Given the description of an element on the screen output the (x, y) to click on. 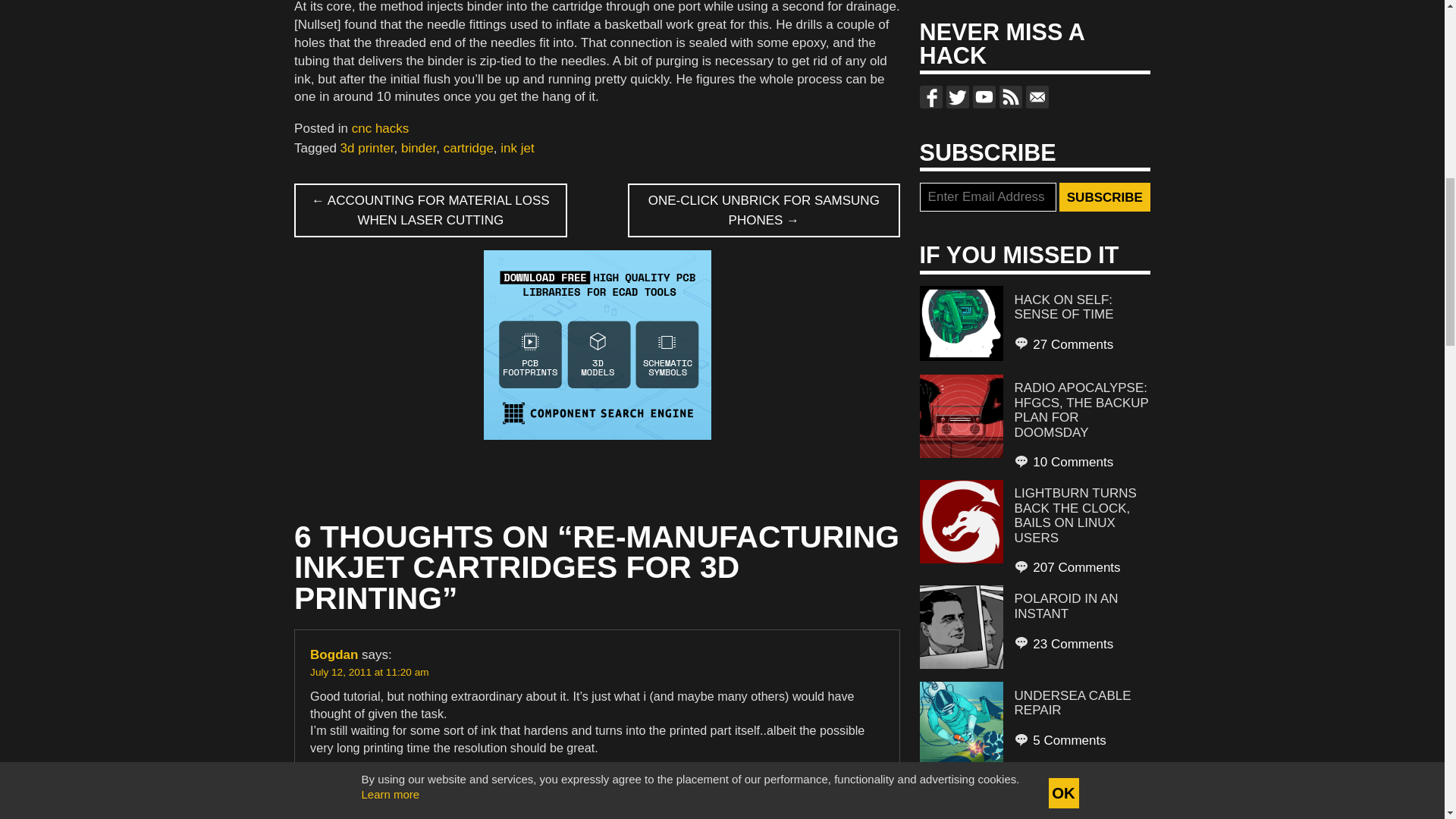
binder (418, 147)
cartridge (468, 147)
ink jet (517, 147)
cnc hacks (380, 128)
Bogdan (334, 654)
Subscribe (1104, 196)
July 12, 2011 at 11:20 am (369, 672)
Reply (326, 778)
3d printer (367, 147)
Report comment (845, 778)
